Given the description of an element on the screen output the (x, y) to click on. 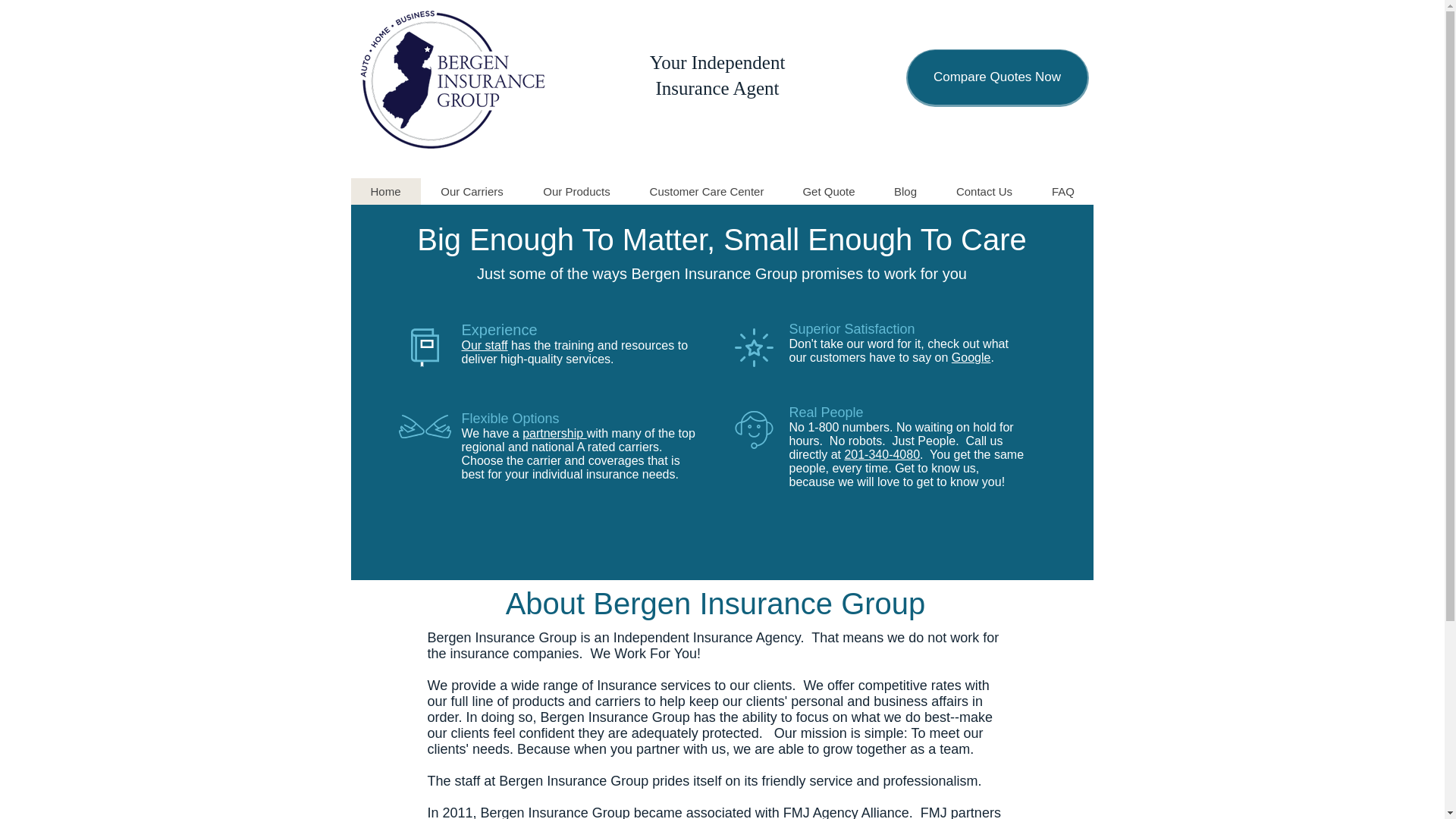
Contact Us (983, 191)
201-340-4080 (882, 454)
Our Products (576, 191)
Our Carriers (471, 191)
Get Quote (828, 191)
Home (385, 191)
Our staff (483, 345)
Blog (904, 191)
partnership  (554, 432)
Compare Quotes Now (996, 76)
